Given the description of an element on the screen output the (x, y) to click on. 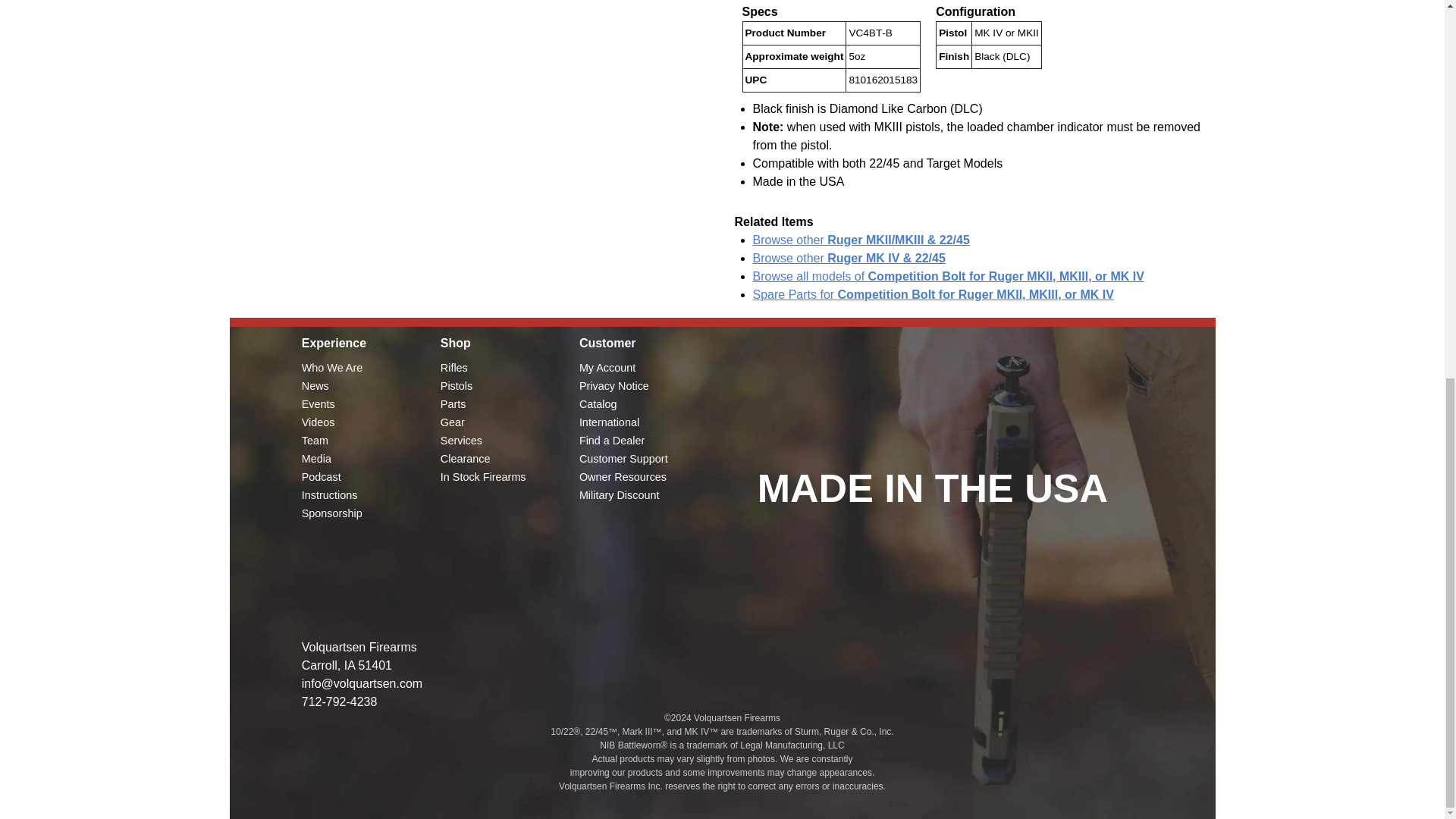
Pistols (456, 386)
Media (316, 458)
Podcast (320, 476)
Videos (317, 422)
Clearance (465, 458)
Services (461, 440)
Sponsorship (331, 512)
Team (315, 440)
Rifles (454, 367)
Events (317, 404)
